Given the description of an element on the screen output the (x, y) to click on. 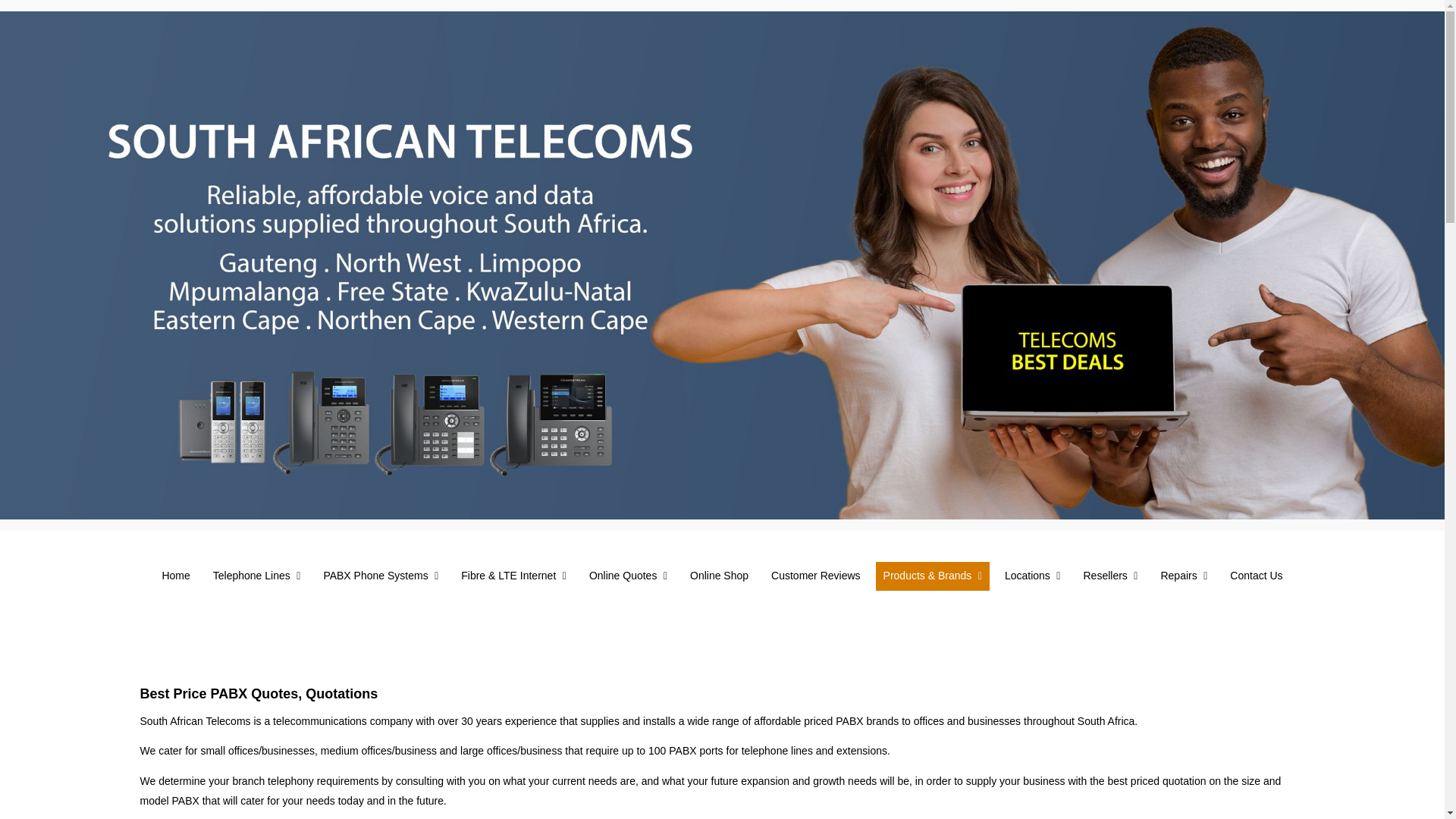
Telephone Lines (256, 575)
PABX Phone Systems (380, 575)
Telephone Lines (256, 575)
Home (175, 575)
Home (175, 575)
